Given the description of an element on the screen output the (x, y) to click on. 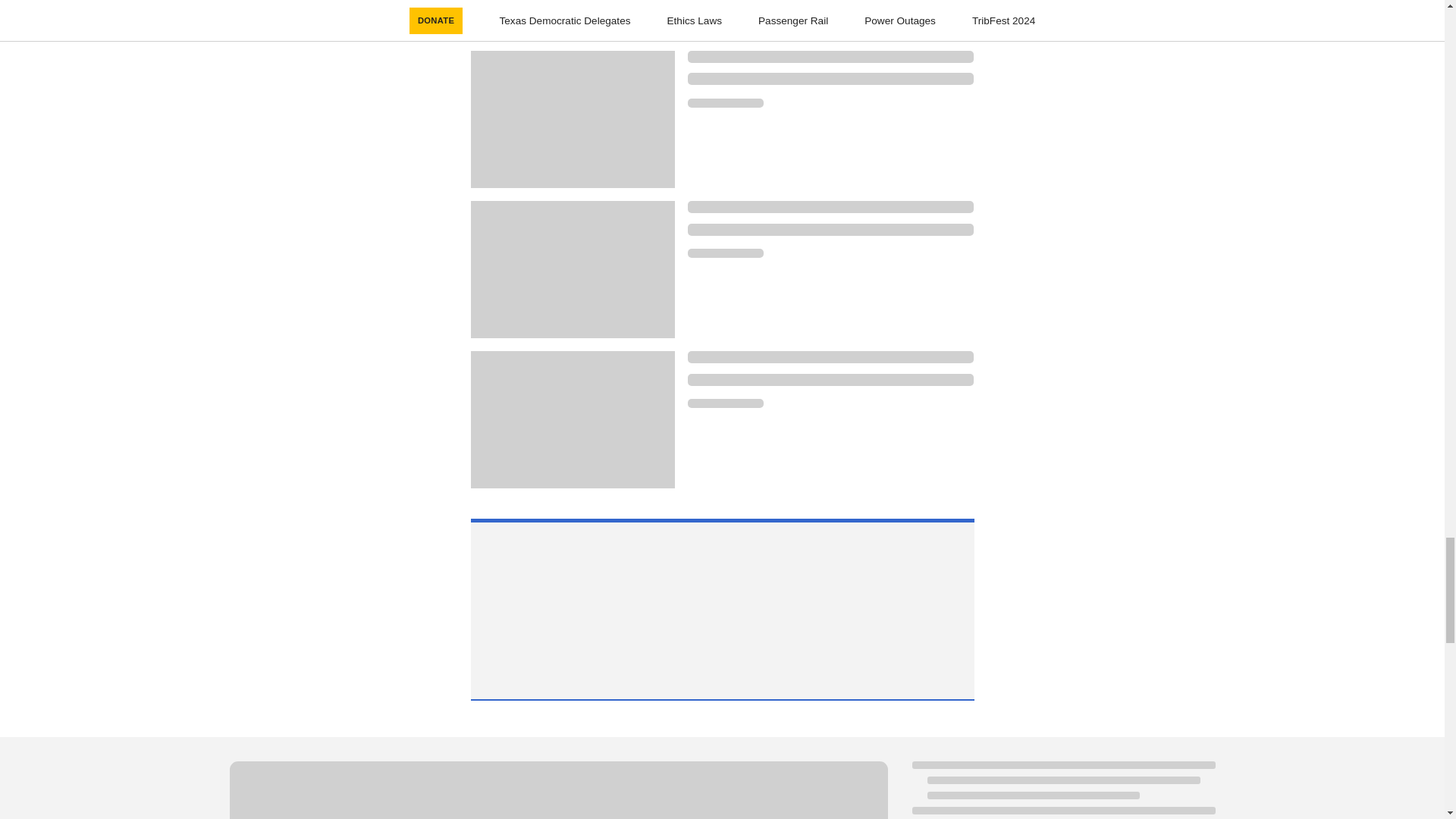
Loading indicator (830, 379)
Loading indicator (724, 252)
Loading indicator (830, 357)
Loading indicator (557, 790)
Loading indicator (830, 206)
Loading indicator (830, 56)
Loading indicator (724, 402)
Loading indicator (724, 102)
Loading indicator (830, 78)
Loading indicator (830, 229)
